Given the description of an element on the screen output the (x, y) to click on. 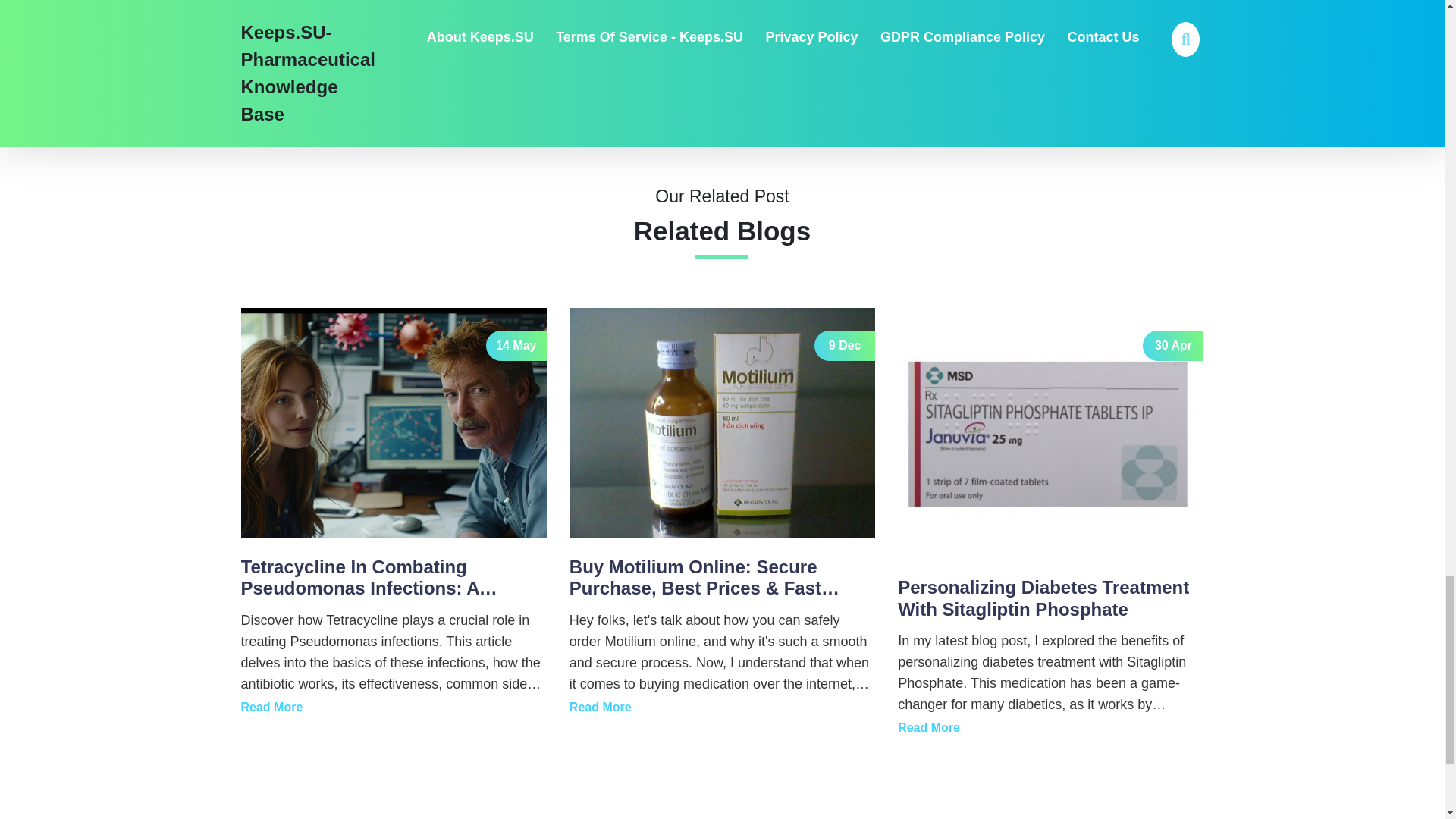
Personalizing Diabetes Treatment with Sitagliptin Phosphate (928, 728)
Post Comment (311, 62)
